Given the description of an element on the screen output the (x, y) to click on. 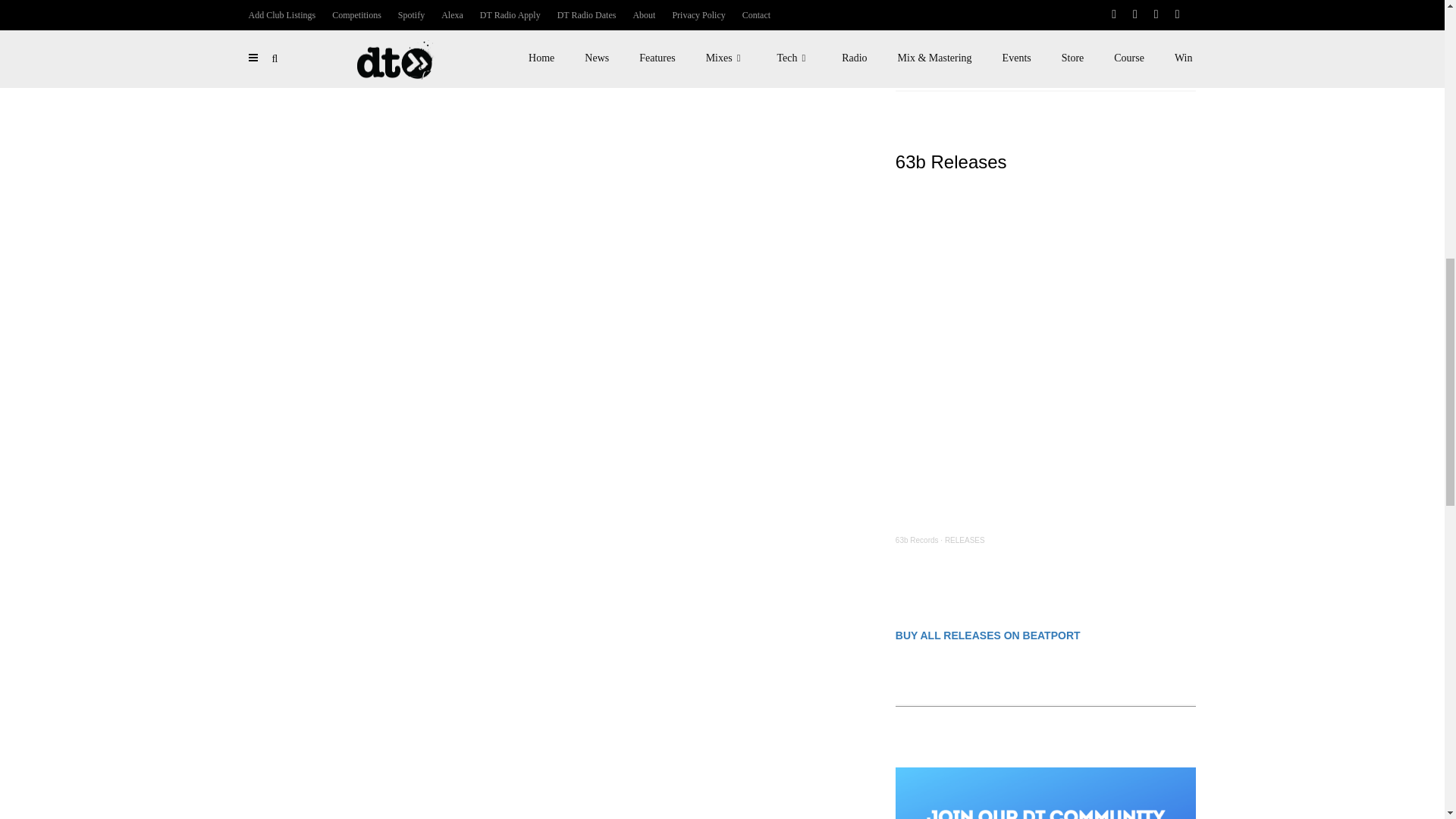
Official Releases (992, 25)
RELEASES (964, 540)
63b Records (917, 540)
Data Transmission (926, 25)
